Given the description of an element on the screen output the (x, y) to click on. 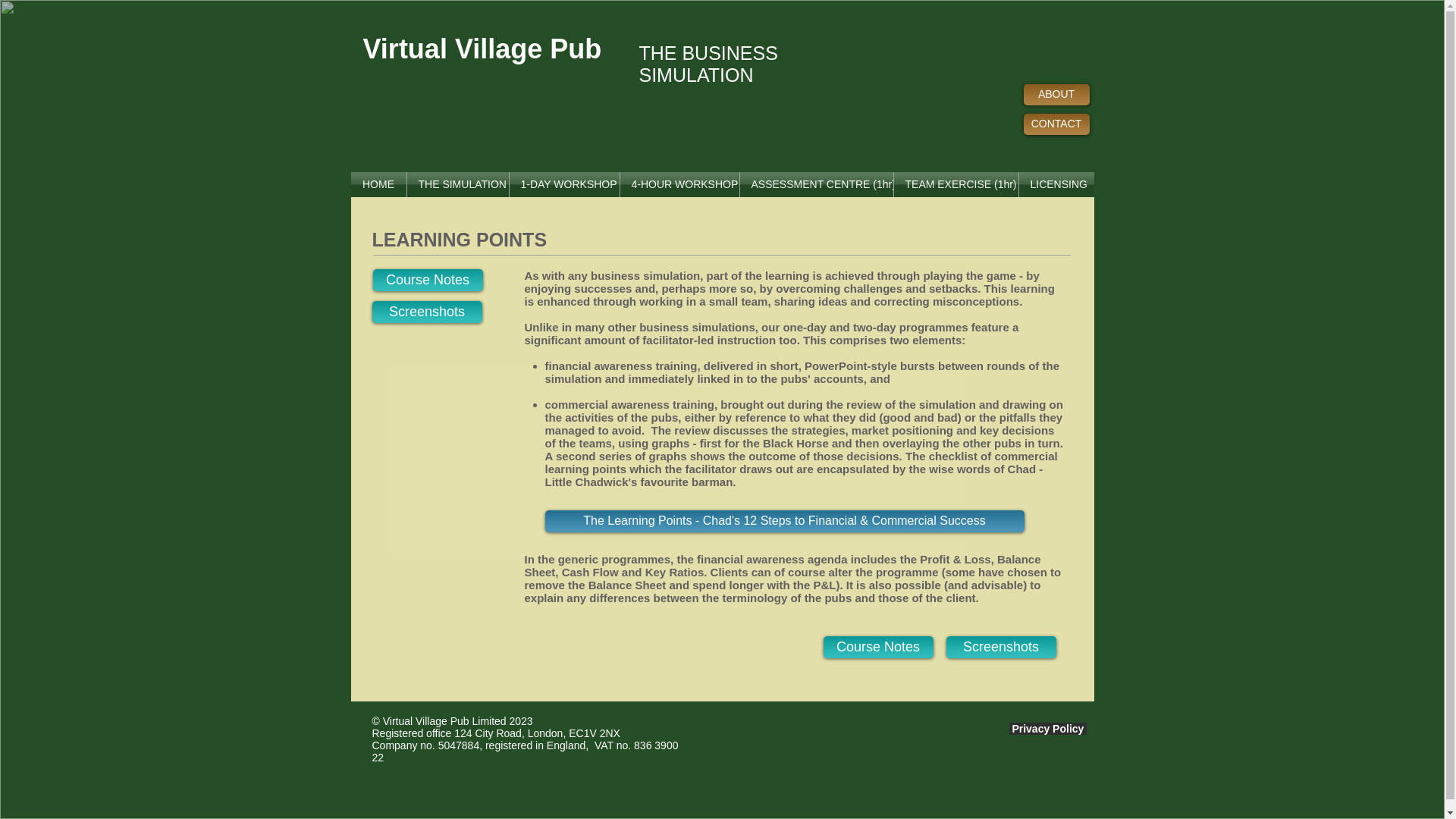
1-DAY WORKSHOP (564, 184)
 Privacy Policy  (1047, 728)
4-HOUR WORKSHOP (679, 184)
CONTACT (1056, 124)
 Virtual Village Pub   (485, 48)
Course Notes (878, 647)
Screenshots (426, 311)
HOME (378, 184)
Screenshots (1001, 647)
Course Notes (427, 280)
